Given the description of an element on the screen output the (x, y) to click on. 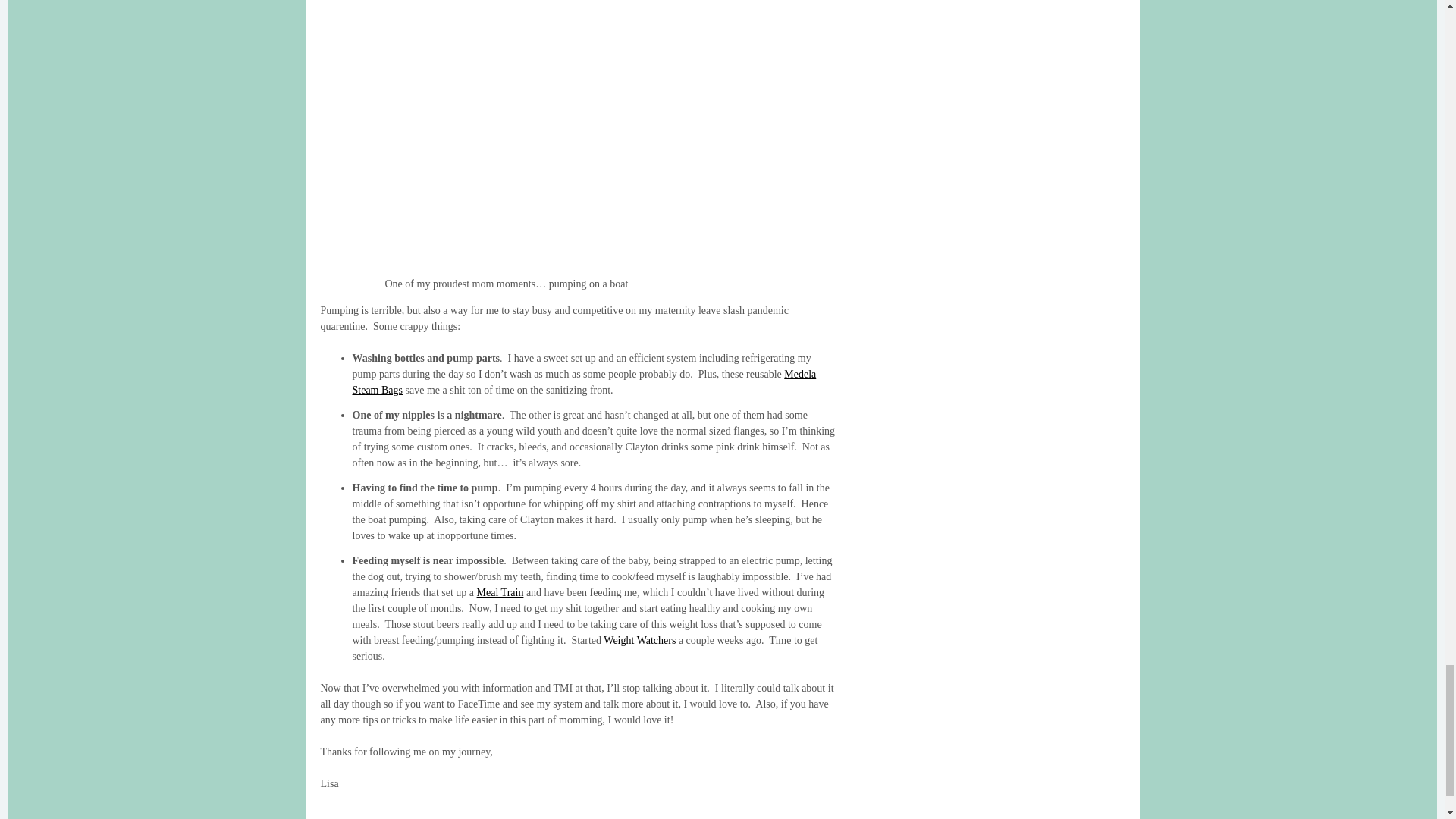
Medela Steam Bags (583, 381)
Weight Watchers (639, 640)
Meal Train (500, 592)
